Given the description of an element on the screen output the (x, y) to click on. 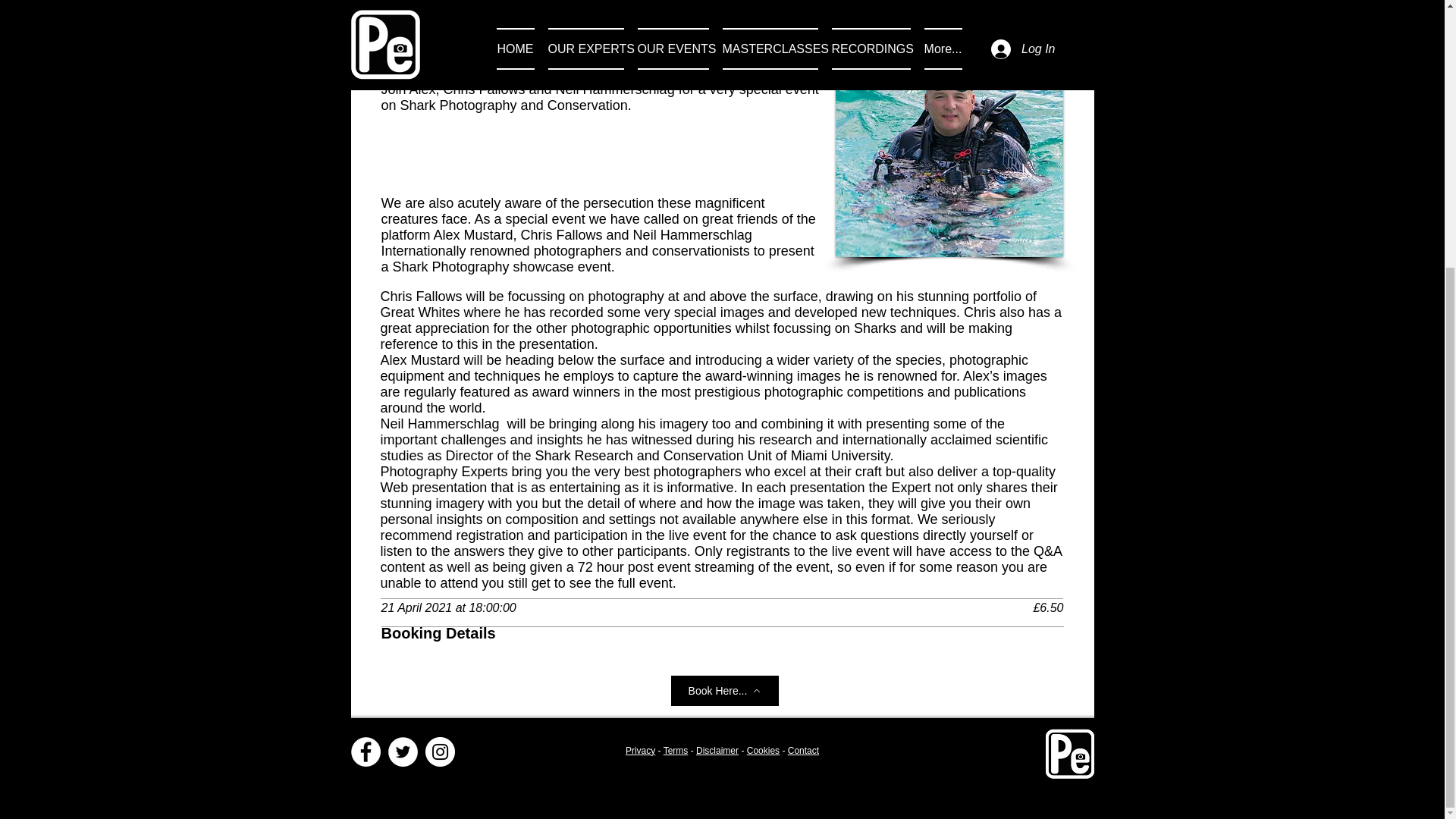
Book Here... (723, 690)
Cookies (762, 750)
Disclaimer (716, 750)
Contact (802, 750)
Privacy (640, 750)
Terms (675, 750)
